Given the description of an element on the screen output the (x, y) to click on. 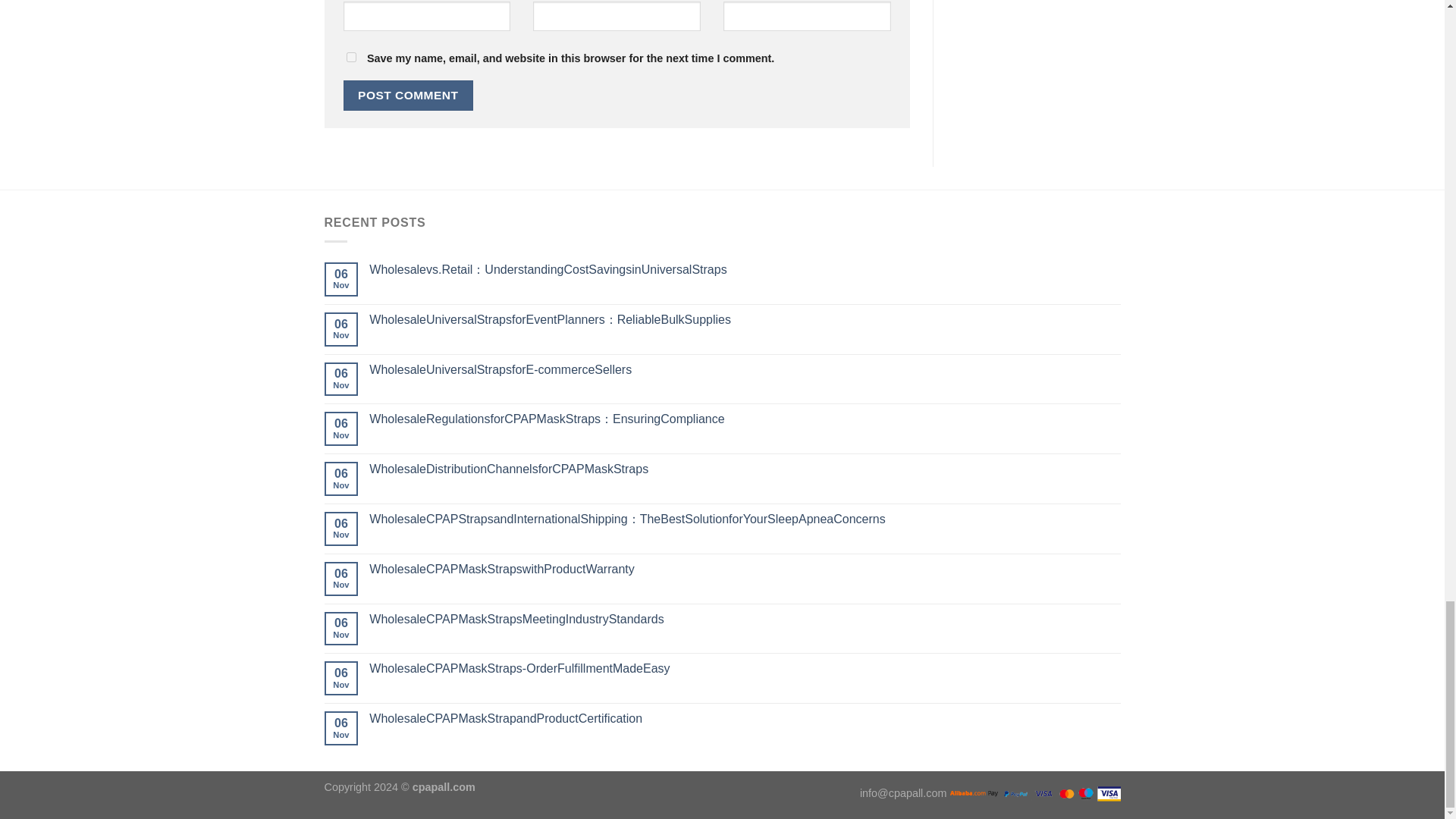
WholesaleCPAPMaskStrapandProductCertification (744, 718)
yes (350, 57)
WholesaleCPAPMaskStraps-OrderFulfillmentMadeEasy (744, 667)
WholesaleUniversalStrapsforE-commerceSellers (744, 369)
WholesaleCPAPMaskStrapswithProductWarranty (744, 568)
WholesaleDistributionChannelsforCPAPMaskStraps (744, 468)
Post Comment (407, 94)
WholesaleCPAPMaskStrapsMeetingIndustryStandards (744, 618)
Post Comment (407, 94)
